Given the description of an element on the screen output the (x, y) to click on. 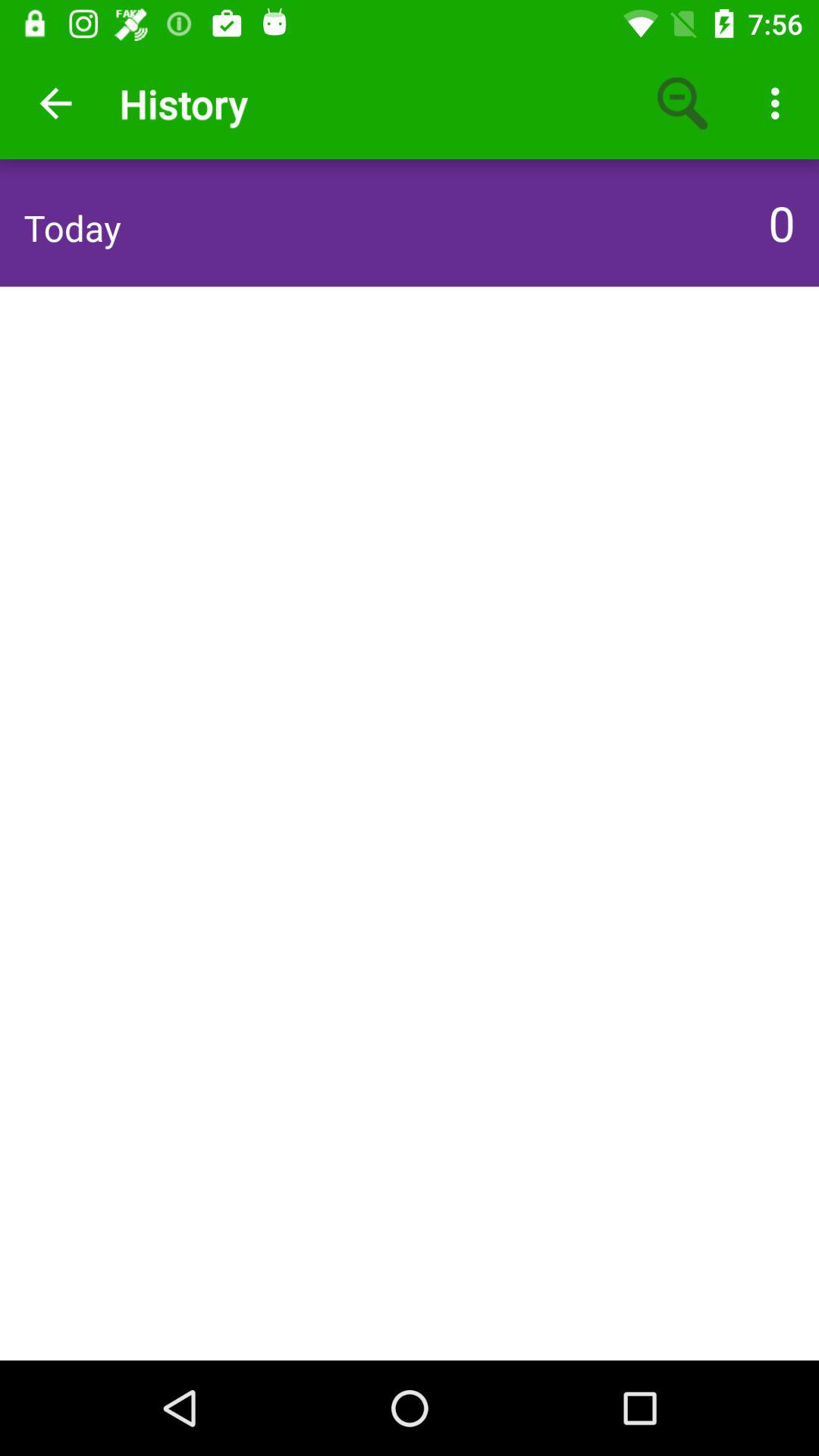
turn off app next to the history icon (55, 103)
